Given the description of an element on the screen output the (x, y) to click on. 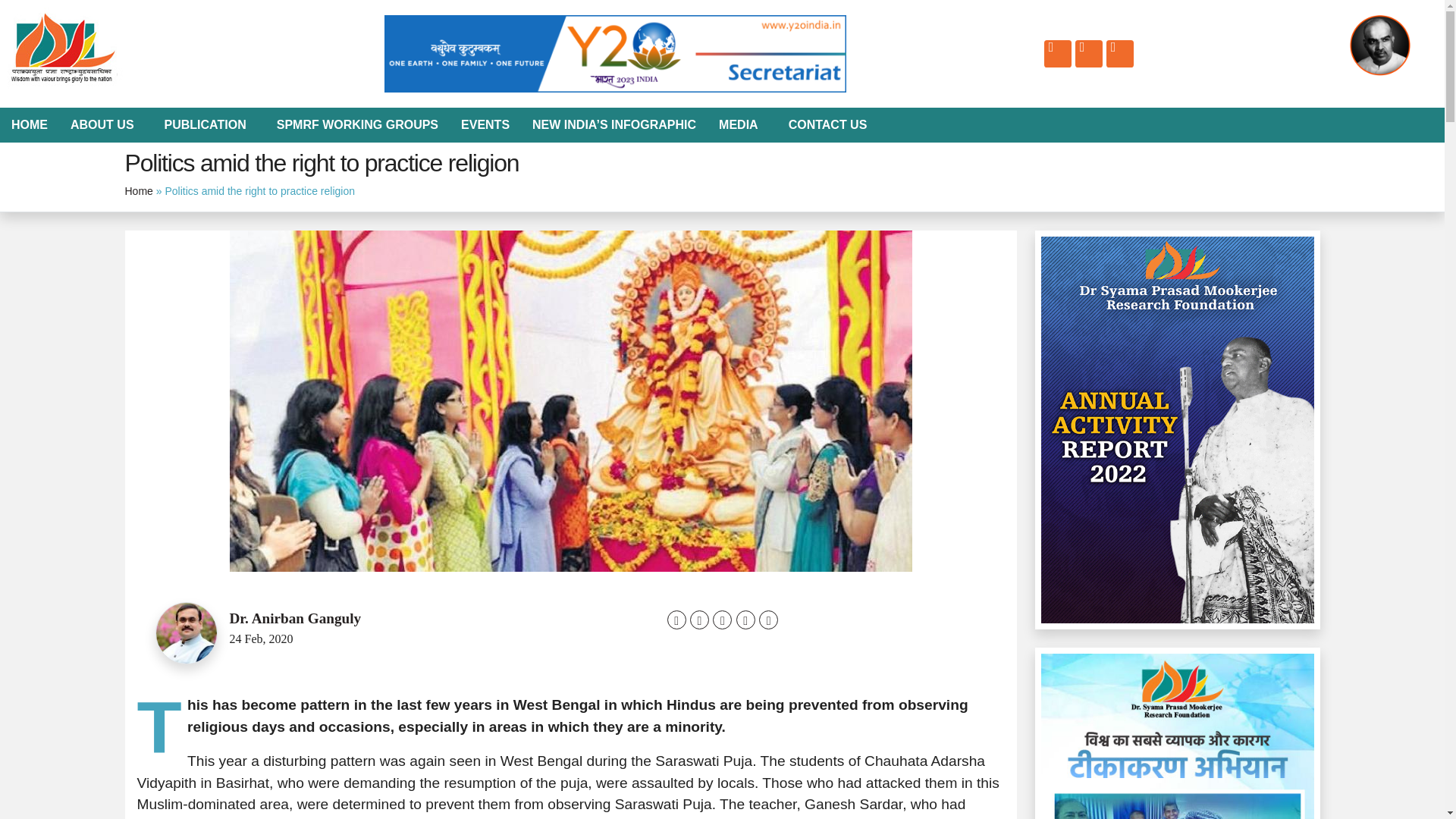
MEDIA (742, 124)
ABOUT US (105, 124)
SPMRF WORKING GROUPS (356, 124)
CONTACT US (828, 124)
HOME (29, 124)
Posts by Dr. Anirban Ganguly (294, 618)
EVENTS (485, 124)
PUBLICATION (208, 124)
